Given the description of an element on the screen output the (x, y) to click on. 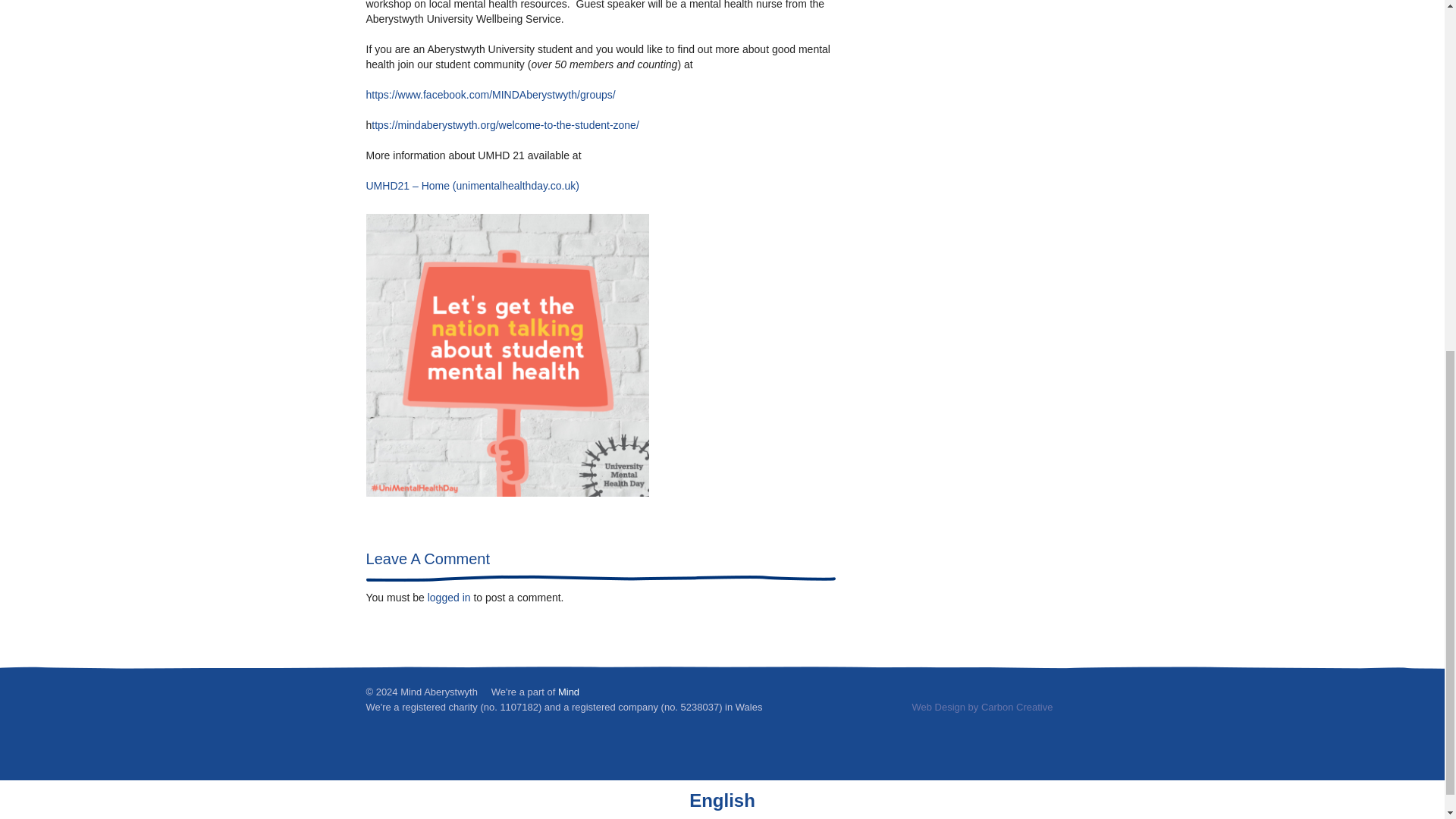
Web Design (938, 706)
Web Design Manchester (938, 706)
logged in (449, 597)
Mind, The Mental Health Charity (568, 691)
English (721, 800)
Mind (568, 691)
